Given the description of an element on the screen output the (x, y) to click on. 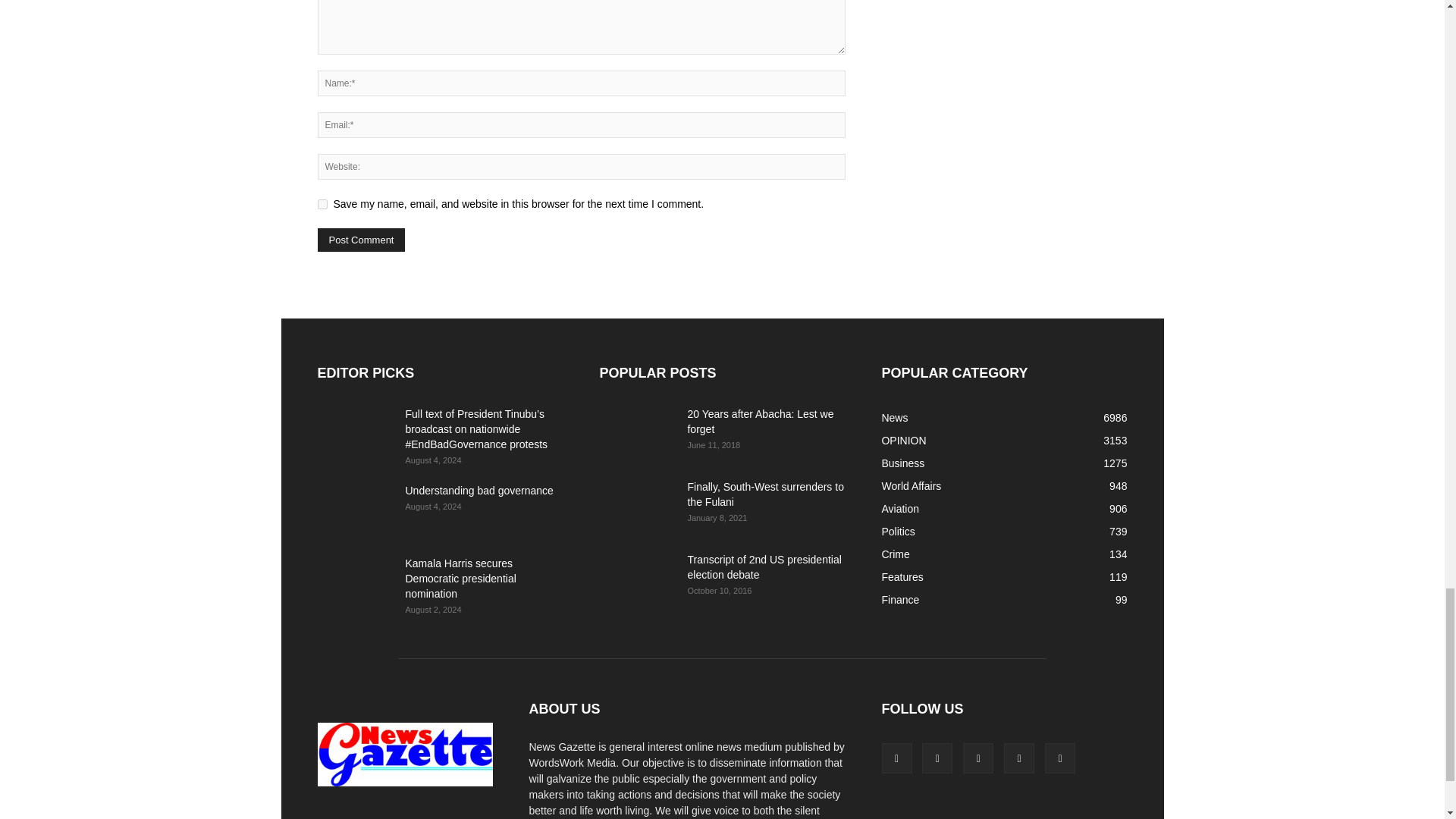
yes (321, 204)
Post Comment (360, 239)
